Given the description of an element on the screen output the (x, y) to click on. 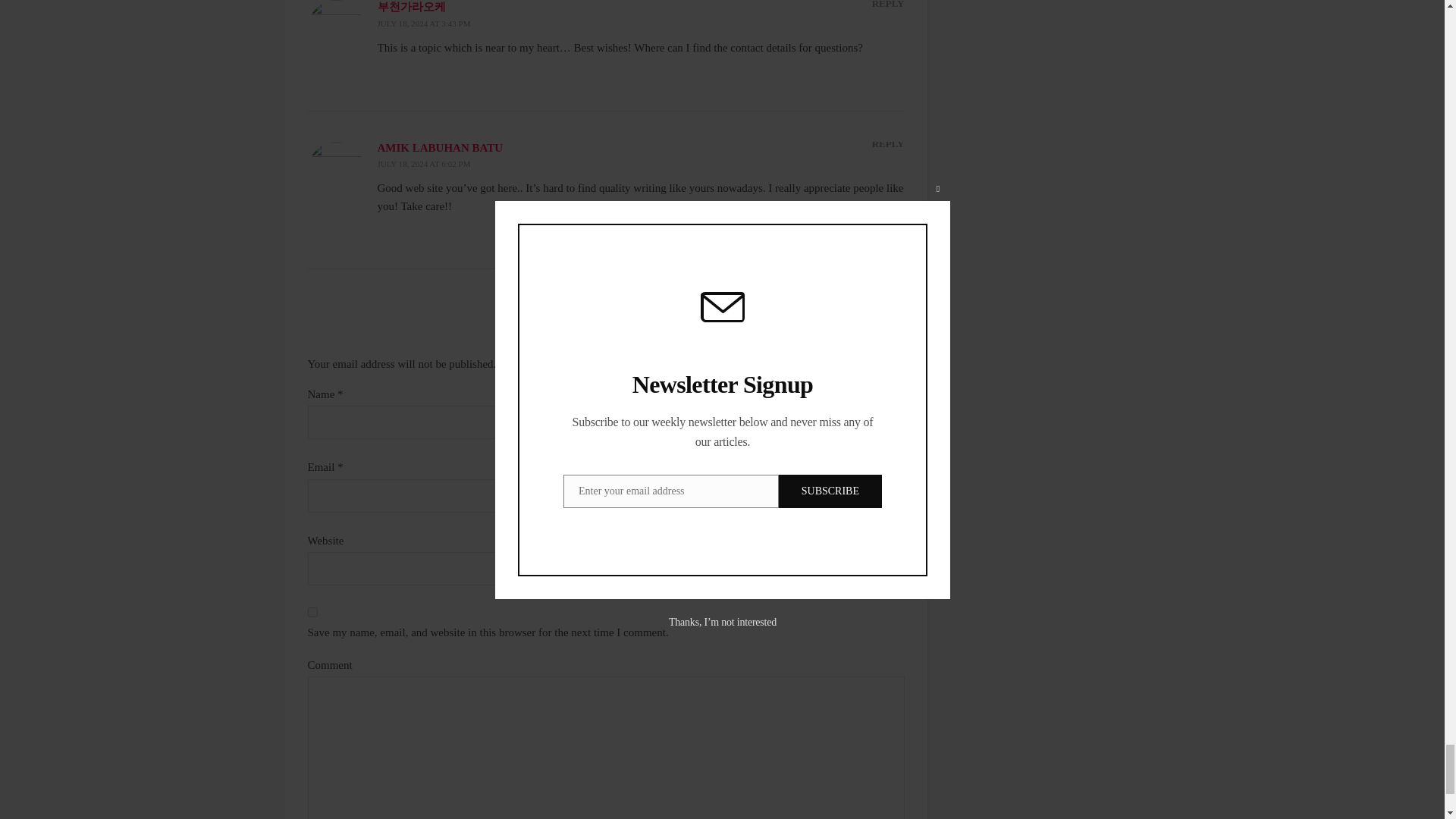
yes (312, 612)
